Given the description of an element on the screen output the (x, y) to click on. 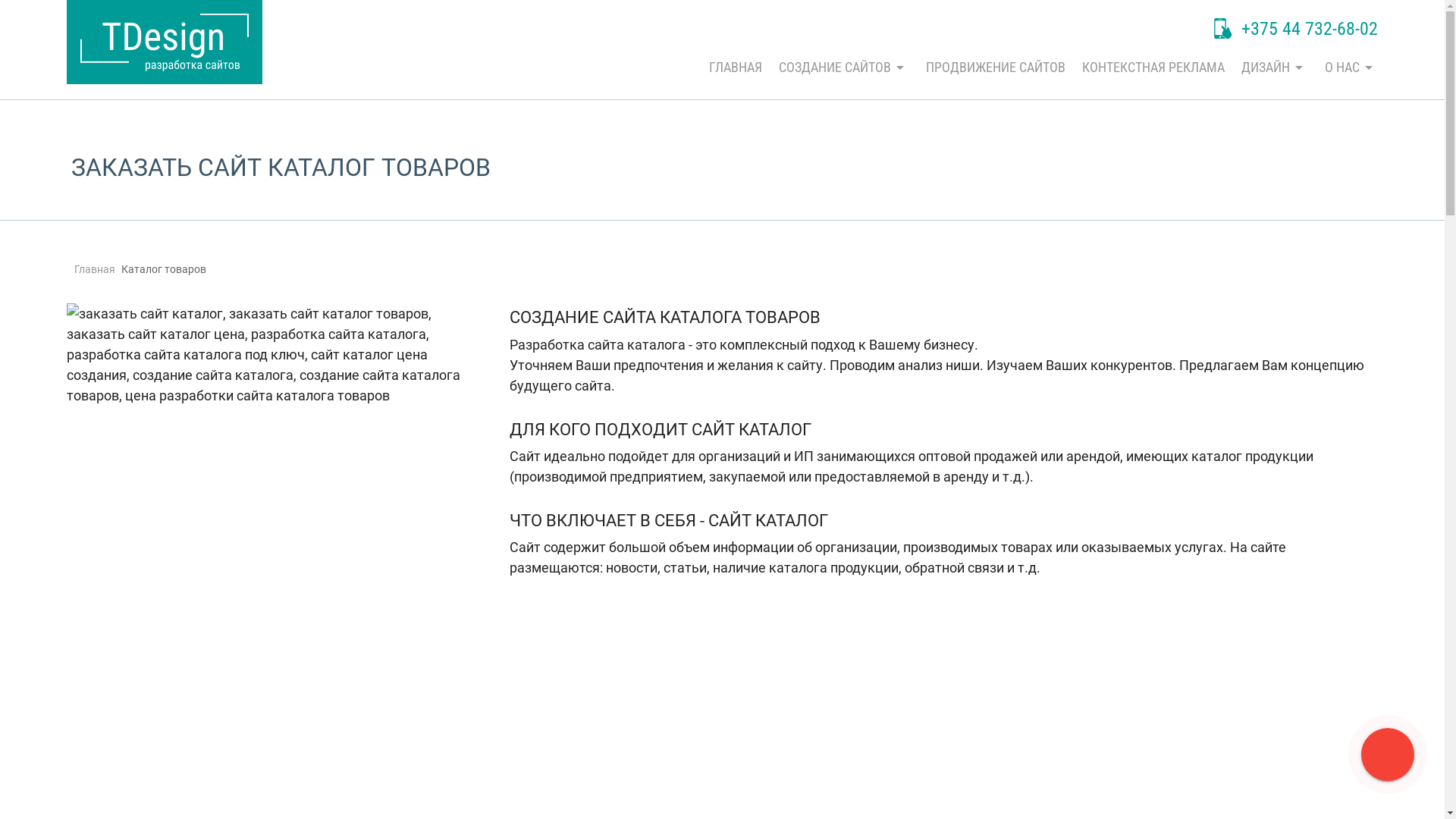
+375 44 732-68-02 Element type: text (1295, 30)
